Given the description of an element on the screen output the (x, y) to click on. 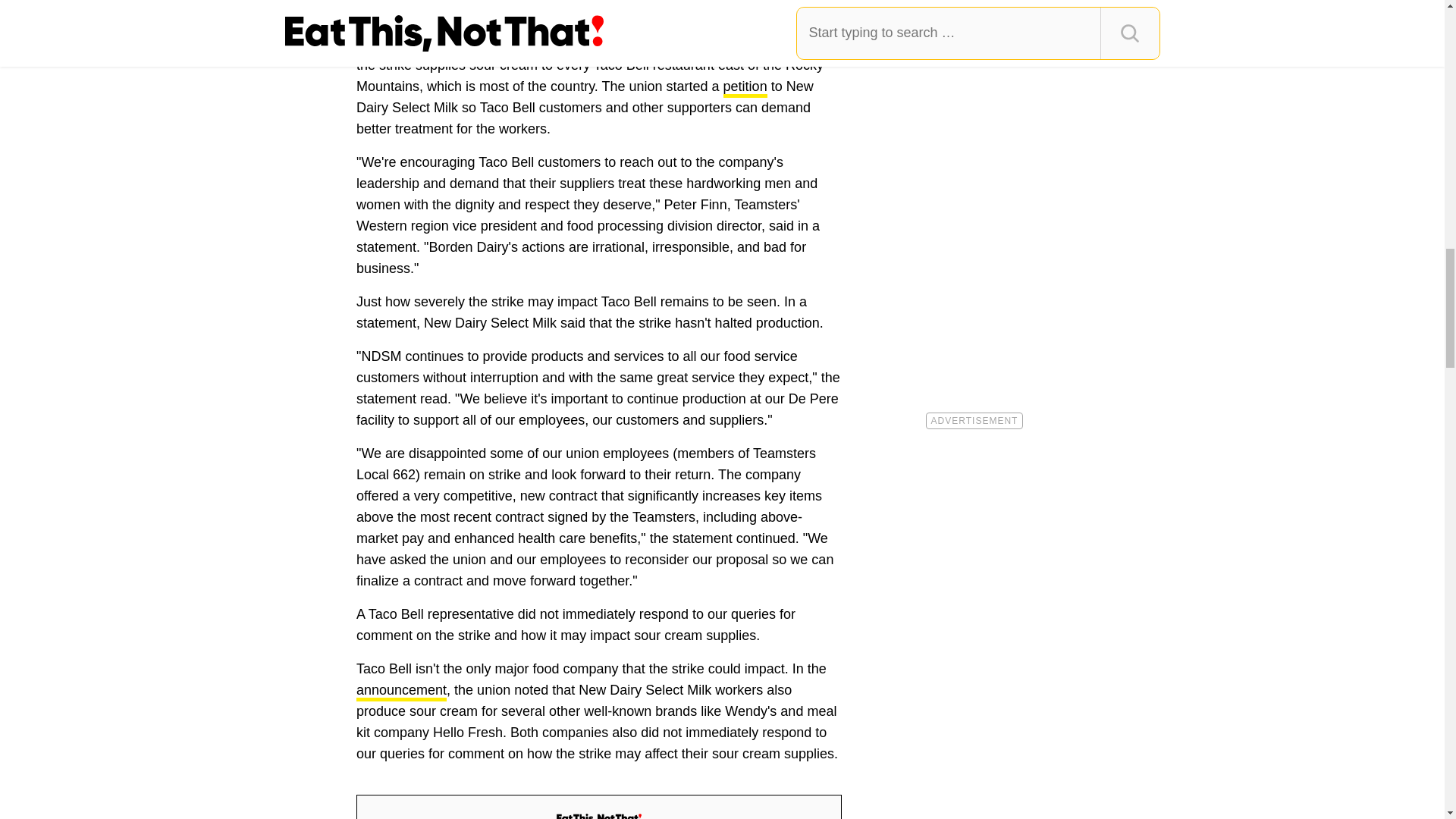
Eat This Not That (599, 816)
